Given the description of an element on the screen output the (x, y) to click on. 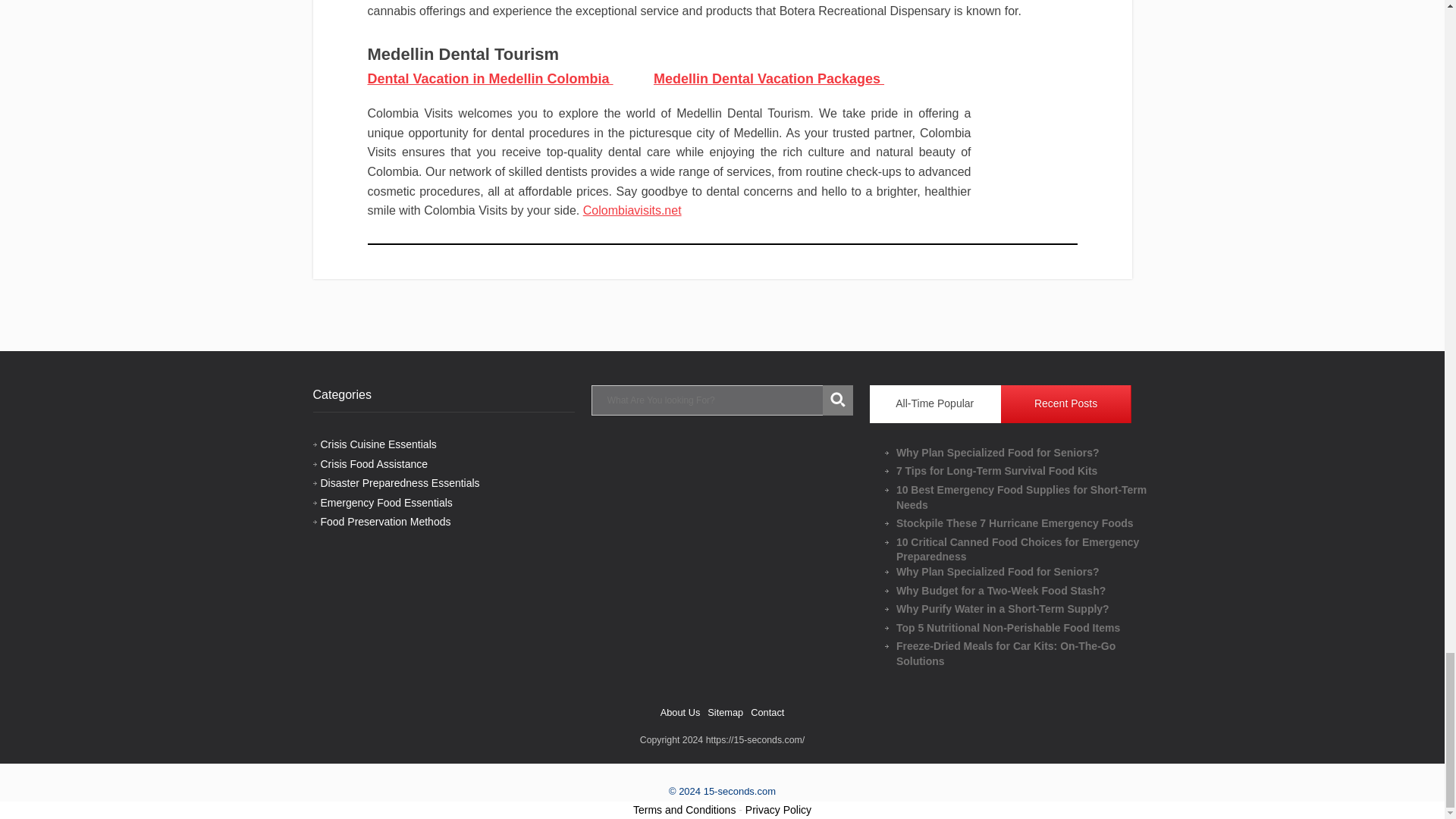
Crisis Food Assistance (374, 463)
Medellin Dental Vacation Packages (768, 78)
Dental Vacation in Medellin Colombia (489, 78)
Medellin Dental Tourism (462, 54)
Colombiavisits.net (632, 210)
Crisis Cuisine Essentials (377, 444)
